Given the description of an element on the screen output the (x, y) to click on. 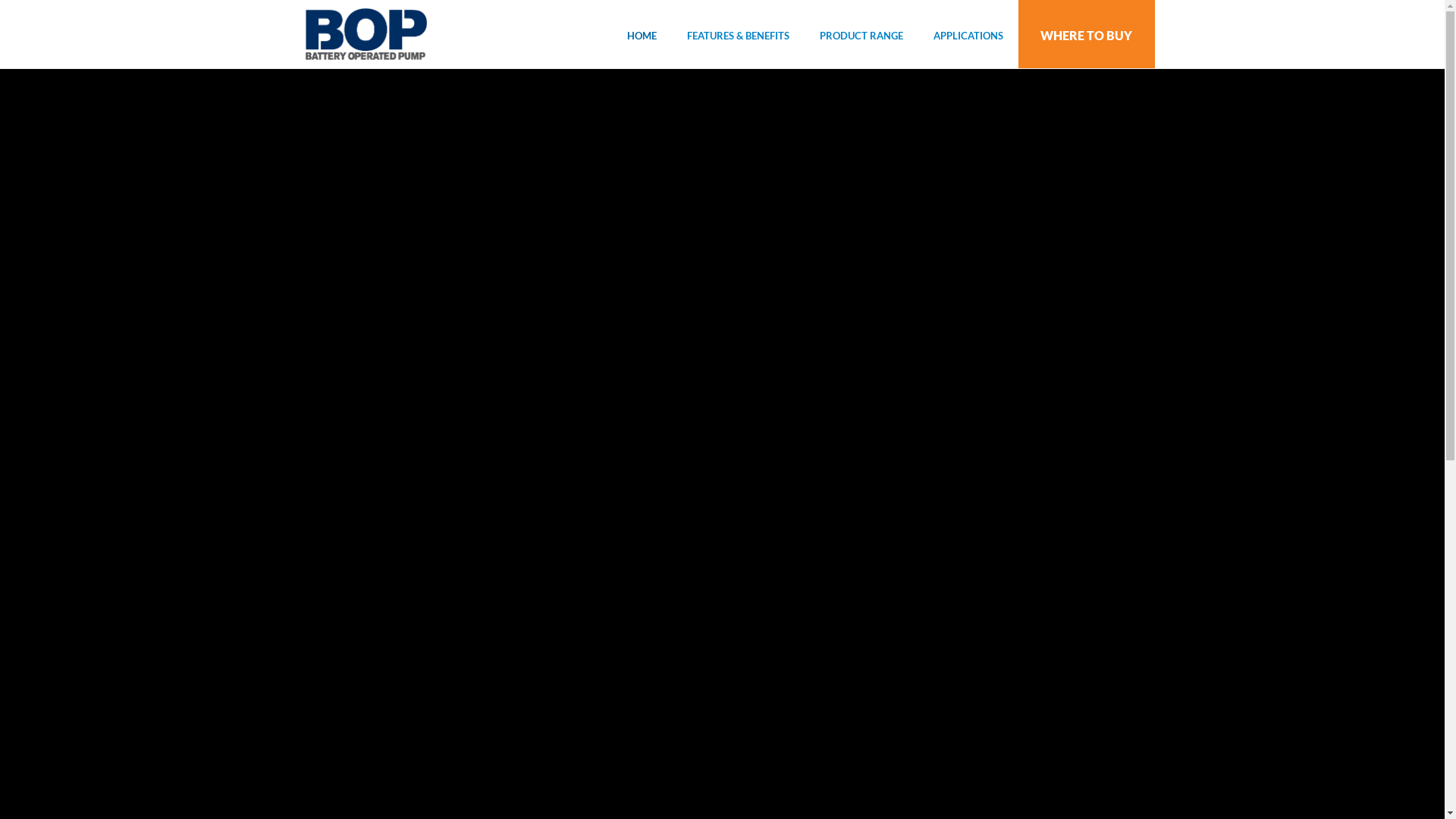
WHERE TO BUY Element type: text (1085, 34)
PRODUCT RANGE Element type: text (860, 34)
Battery Operated Pump Element type: hover (365, 33)
FEATURES & BENEFITS Element type: text (737, 34)
HOME Element type: text (641, 34)
APPLICATIONS Element type: text (967, 34)
